Given the description of an element on the screen output the (x, y) to click on. 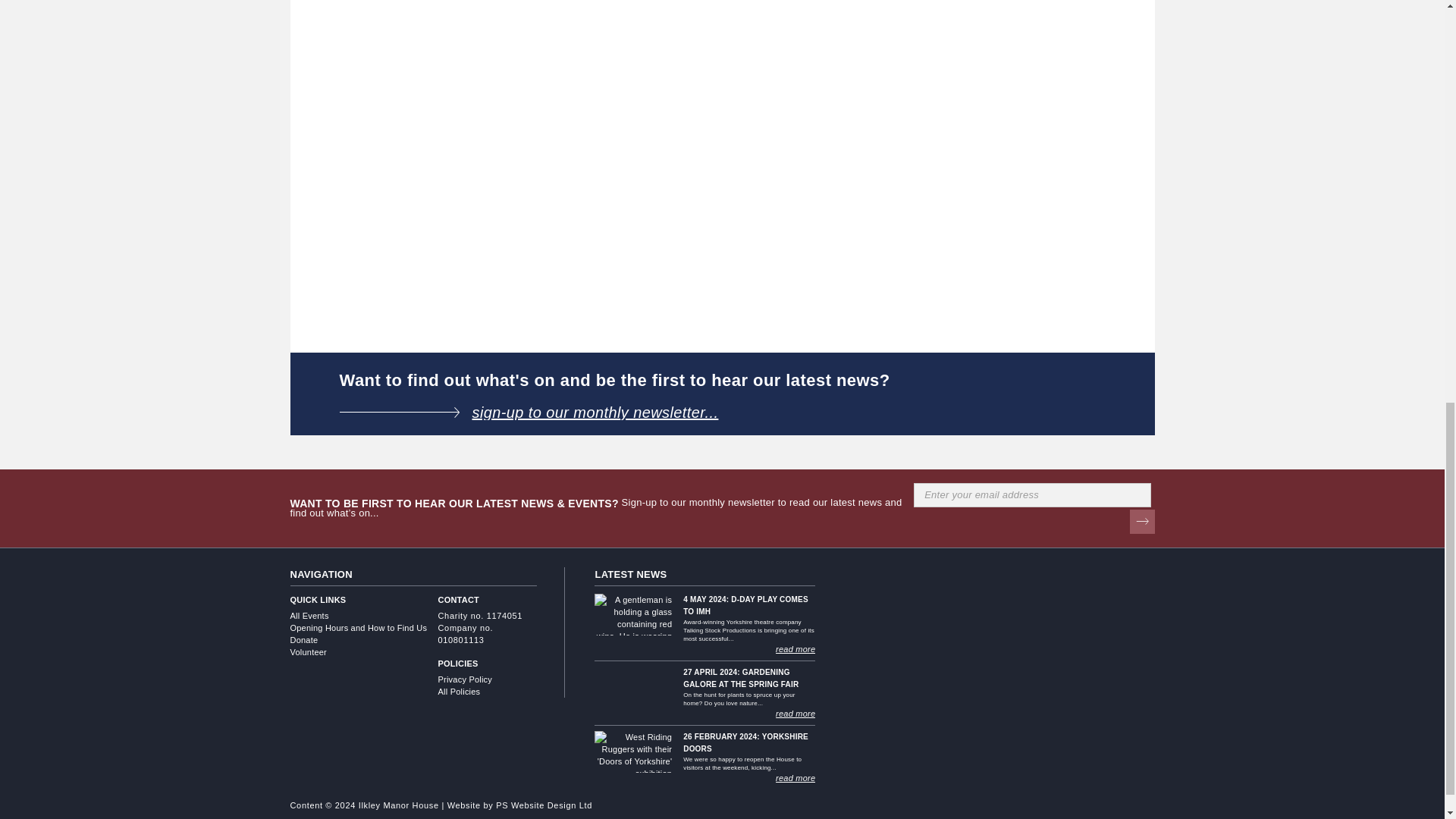
Opening Hours and How to Find Us (363, 627)
Send (1141, 521)
QUICK LINKS (363, 599)
Send (1141, 521)
All Events (363, 615)
